Given the description of an element on the screen output the (x, y) to click on. 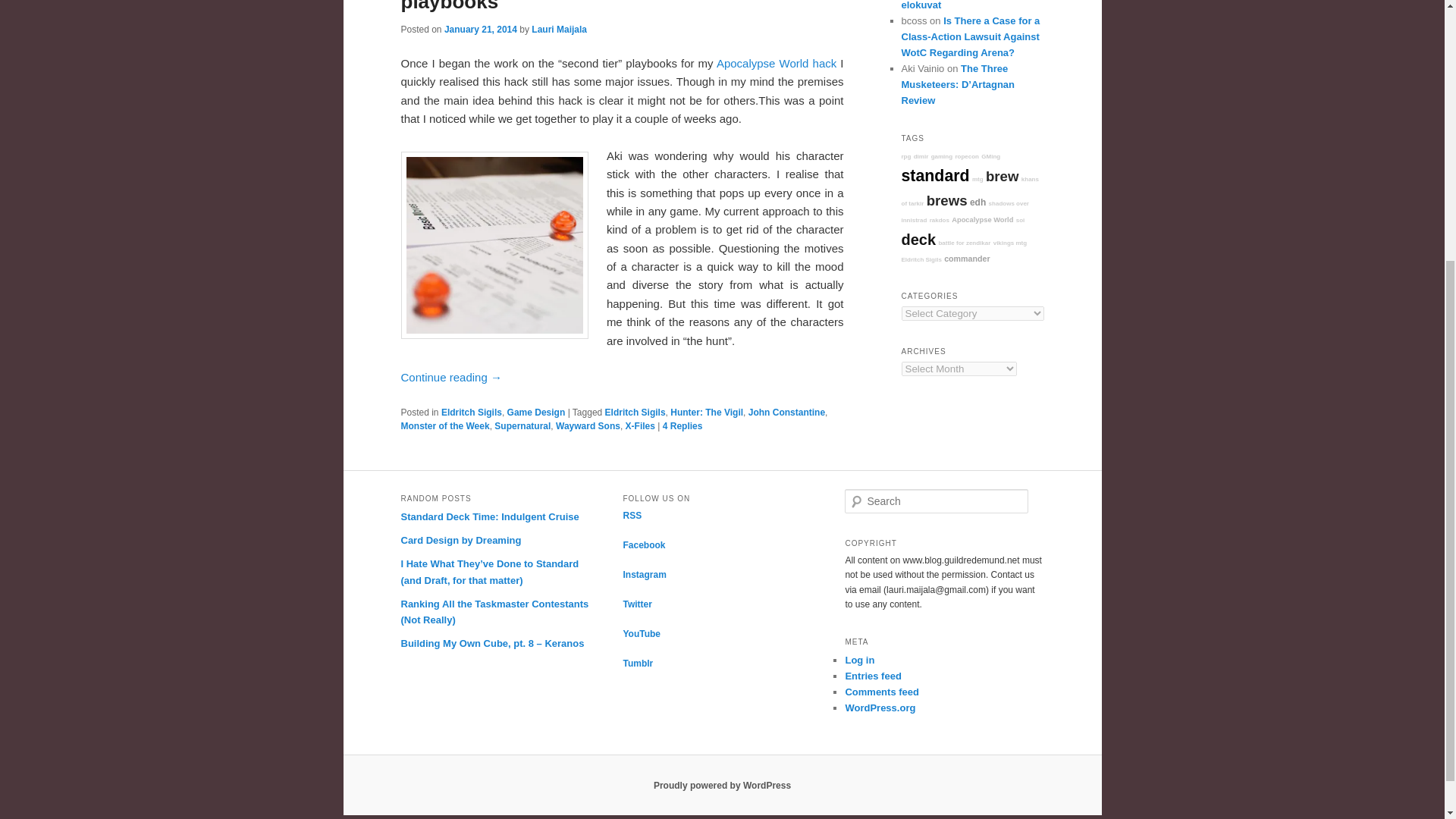
19 topics (978, 179)
34 topics (990, 156)
29 topics (969, 191)
ropecon (966, 156)
GMing (990, 156)
Game Design (536, 412)
X-Files (640, 425)
Hunter: The Vigil (705, 412)
11:32 (480, 28)
28 topics (966, 156)
rpg (906, 156)
86 topics (977, 202)
Eldritch Sigils (635, 412)
37 topics (982, 219)
19 topics (921, 156)
